Given the description of an element on the screen output the (x, y) to click on. 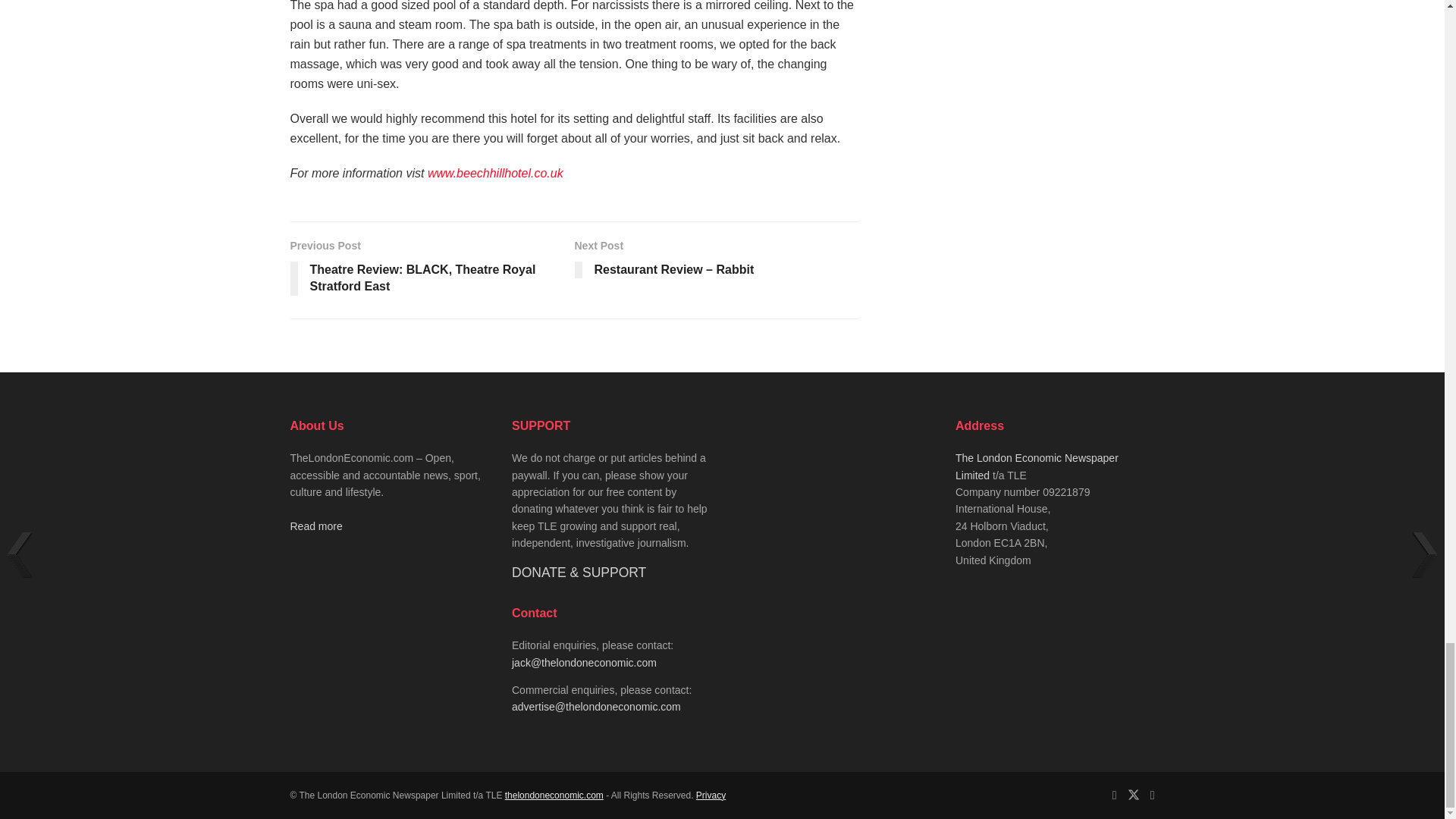
Privacy (710, 795)
The London Economic (554, 795)
